Given the description of an element on the screen output the (x, y) to click on. 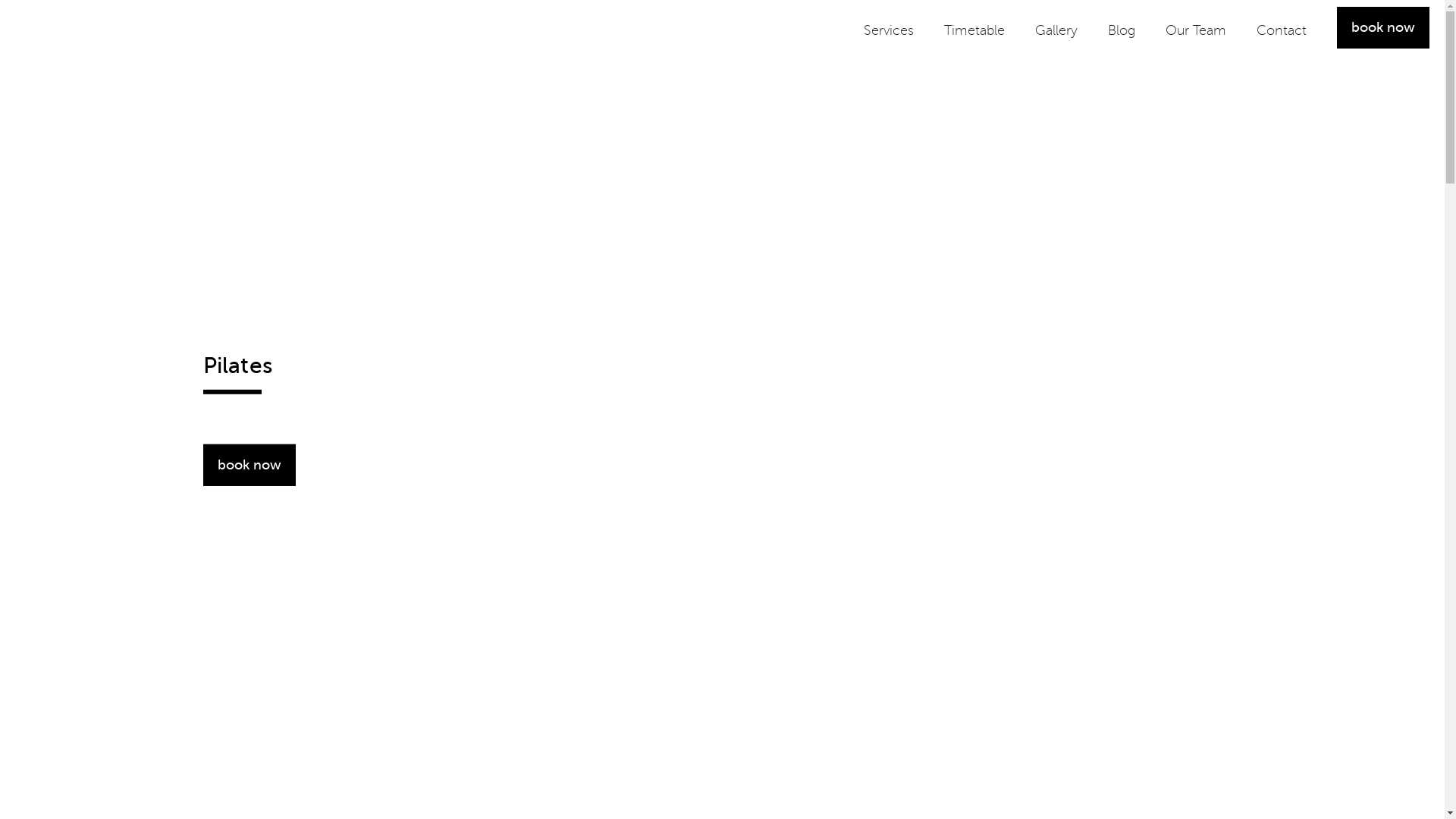
Our Team Element type: text (1195, 32)
book now Element type: text (249, 464)
Gallery Element type: text (1056, 32)
Services Element type: text (888, 32)
Blog Element type: text (1121, 32)
Contact Element type: text (1281, 32)
Timetable Element type: text (974, 32)
book now Element type: text (1382, 27)
